Given the description of an element on the screen output the (x, y) to click on. 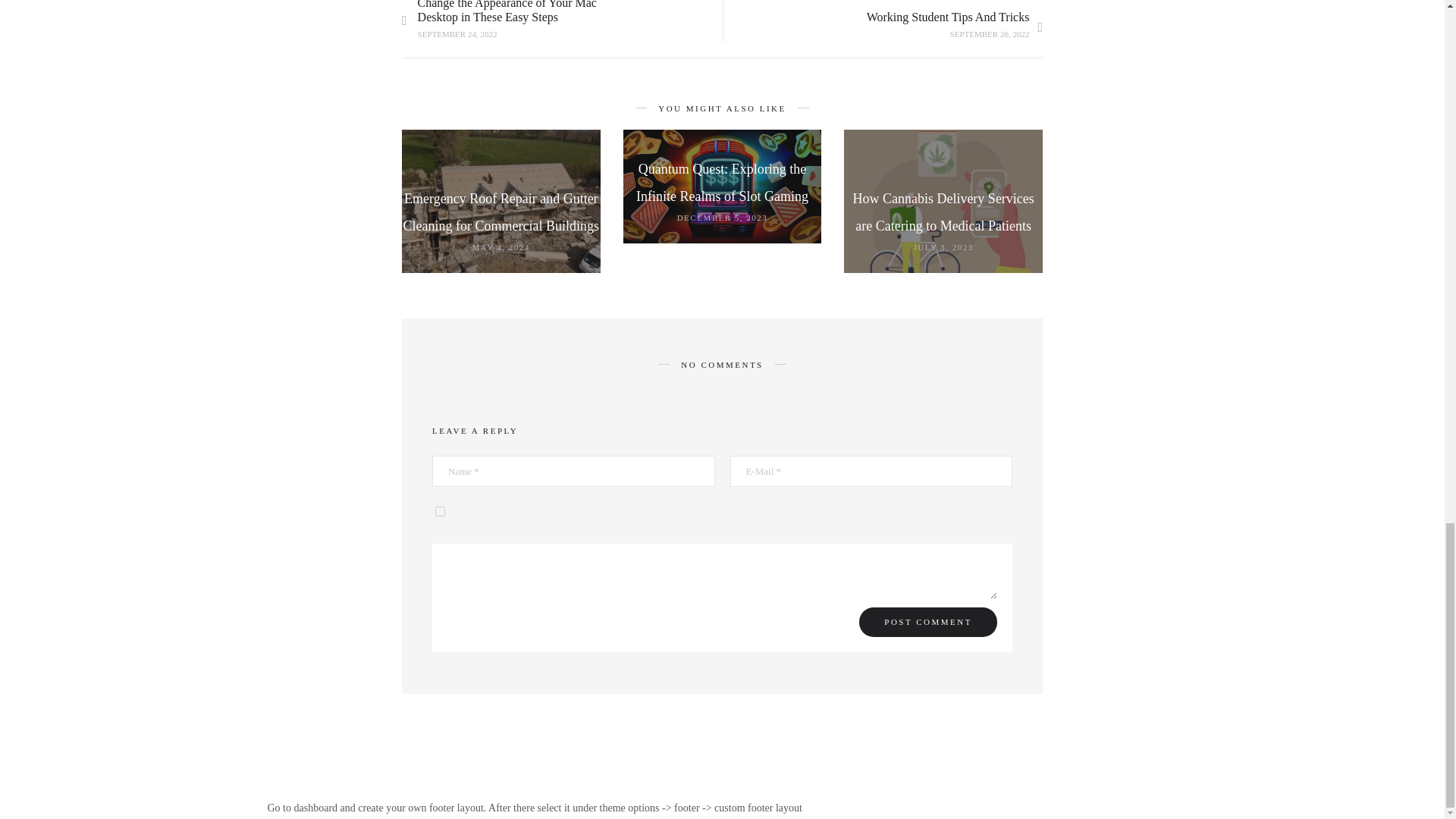
yes (440, 511)
Post comment (928, 622)
Quantum Quest: Exploring the Infinite Realms of Slot Gaming (722, 182)
